Given the description of an element on the screen output the (x, y) to click on. 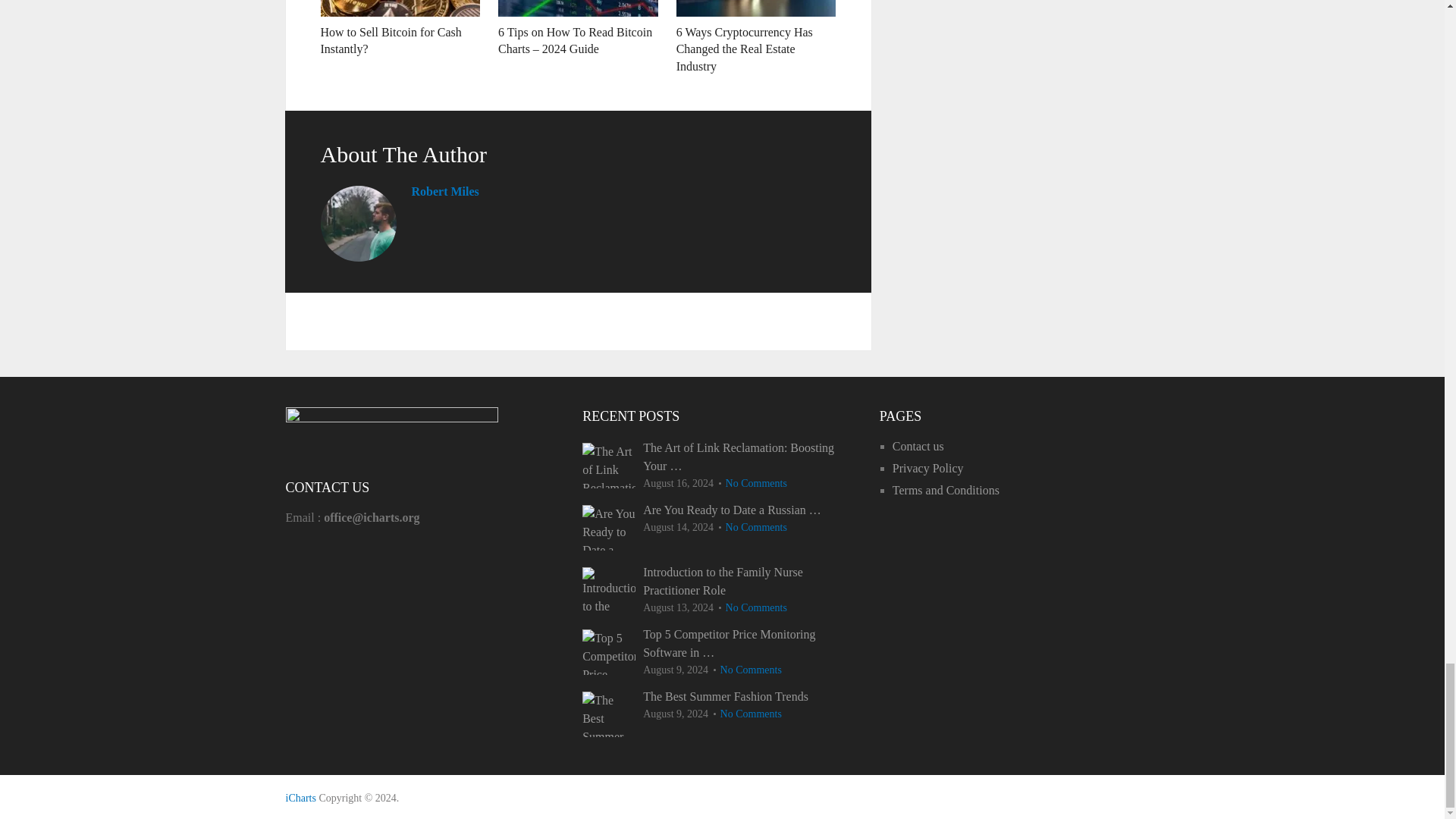
How to Sell Bitcoin for Cash Instantly? (400, 8)
6 Ways Cryptocurrency Has Changed the Real Estate Industry (744, 48)
The Art of Link Reclamation: Boosting Your SEO Strategy (608, 465)
How to Sell Bitcoin for Cash Instantly? (390, 40)
6 Ways Cryptocurrency Has Changed the Real Estate Industry (744, 48)
The Art of Link Reclamation: Boosting Your SEO Strategy (721, 456)
Robert Miles (444, 191)
6 Ways Cryptocurrency Has Changed the Real Estate Industry (756, 8)
How to Sell Bitcoin for Cash Instantly? (390, 40)
